Given the description of an element on the screen output the (x, y) to click on. 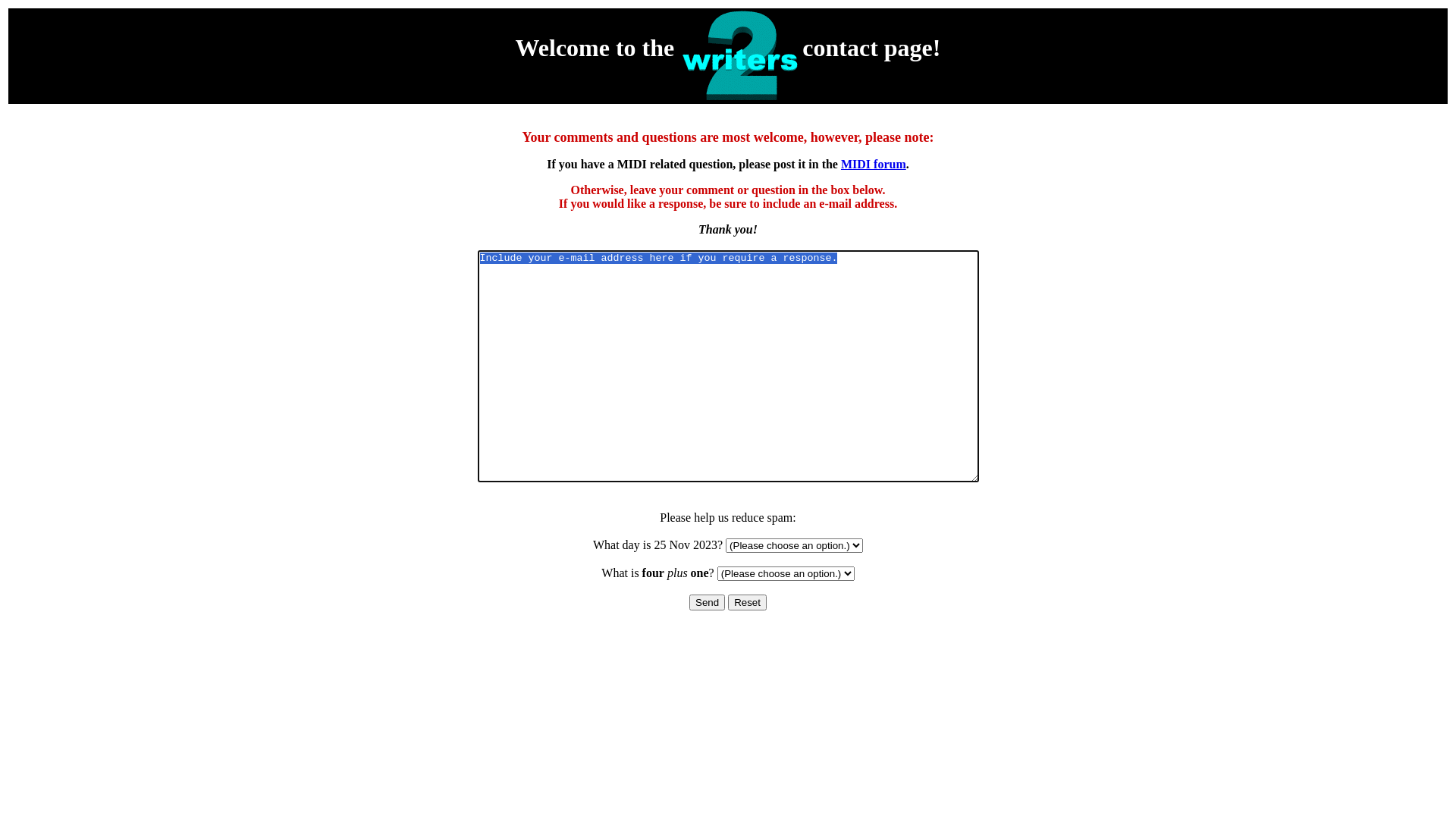
2Writers.com Element type: hover (741, 55)
MIDI forum Element type: text (873, 163)
Send Element type: text (706, 602)
